Given the description of an element on the screen output the (x, y) to click on. 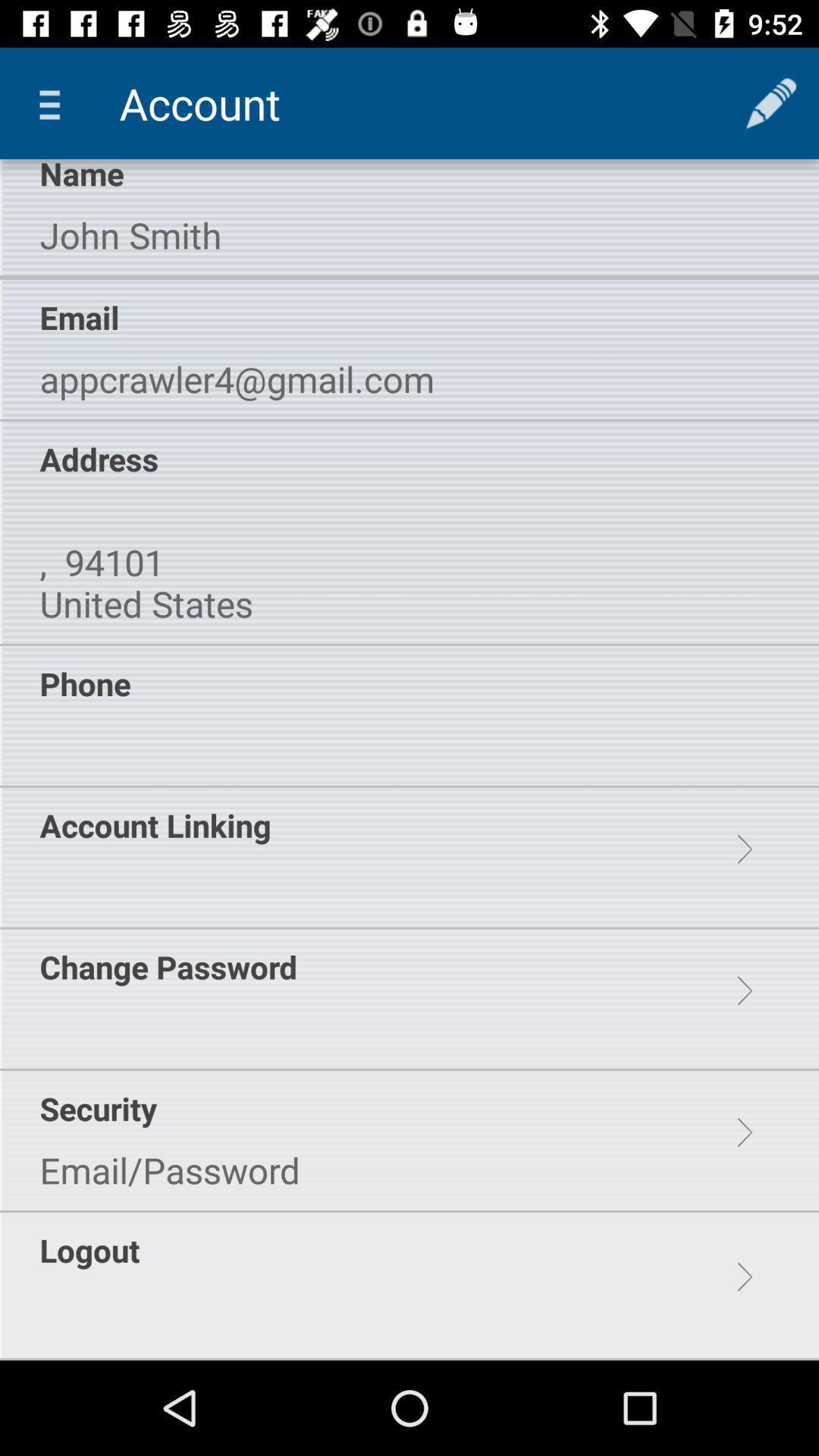
launch logout item (89, 1249)
